Given the description of an element on the screen output the (x, y) to click on. 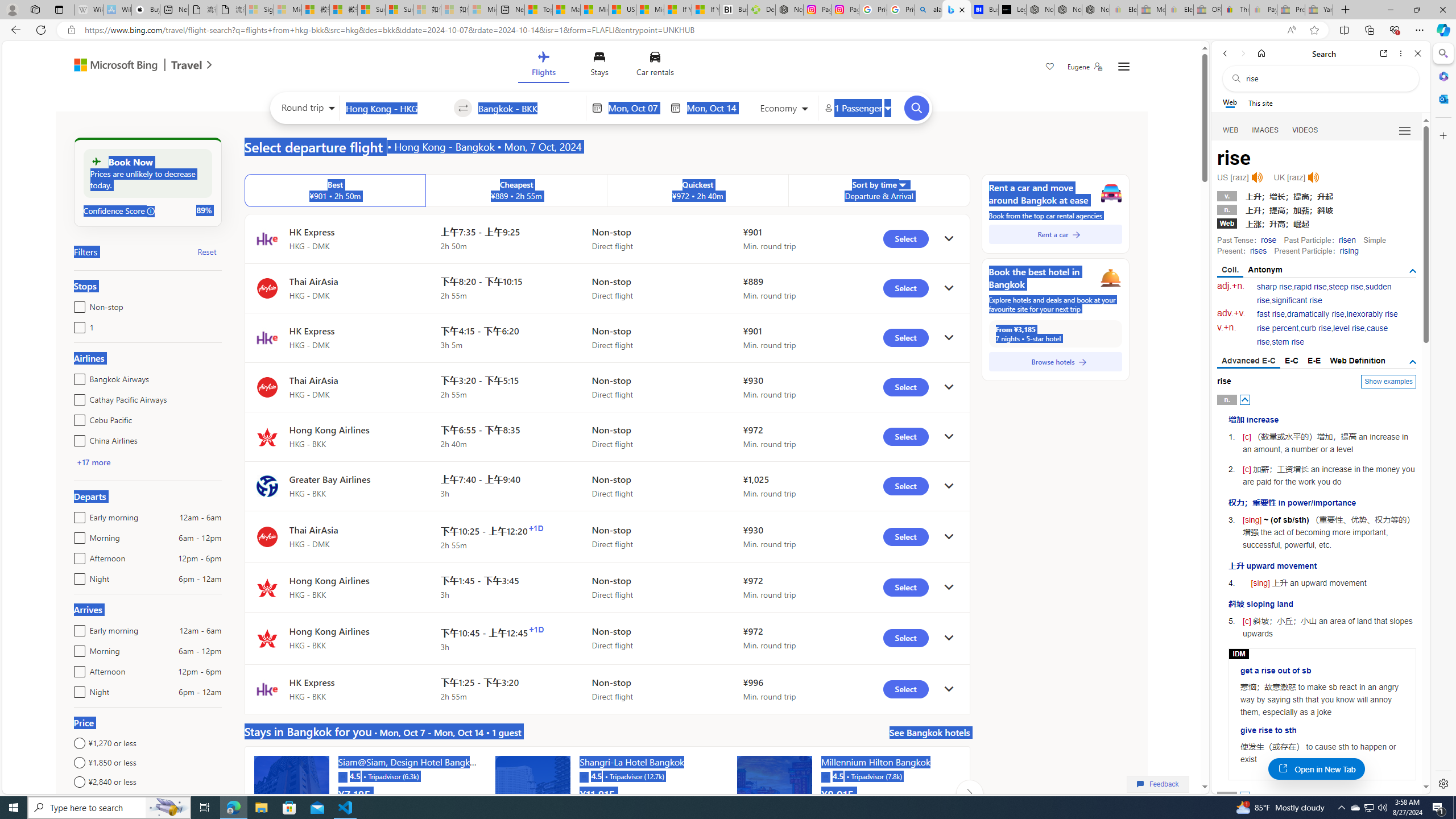
stem rise (1287, 341)
US Heat Deaths Soared To Record High Last Year (621, 9)
Search Filter, IMAGES (1265, 129)
Class: autosuggest-container full-height no-y-padding (528, 107)
This site scope (1259, 102)
